Given the description of an element on the screen output the (x, y) to click on. 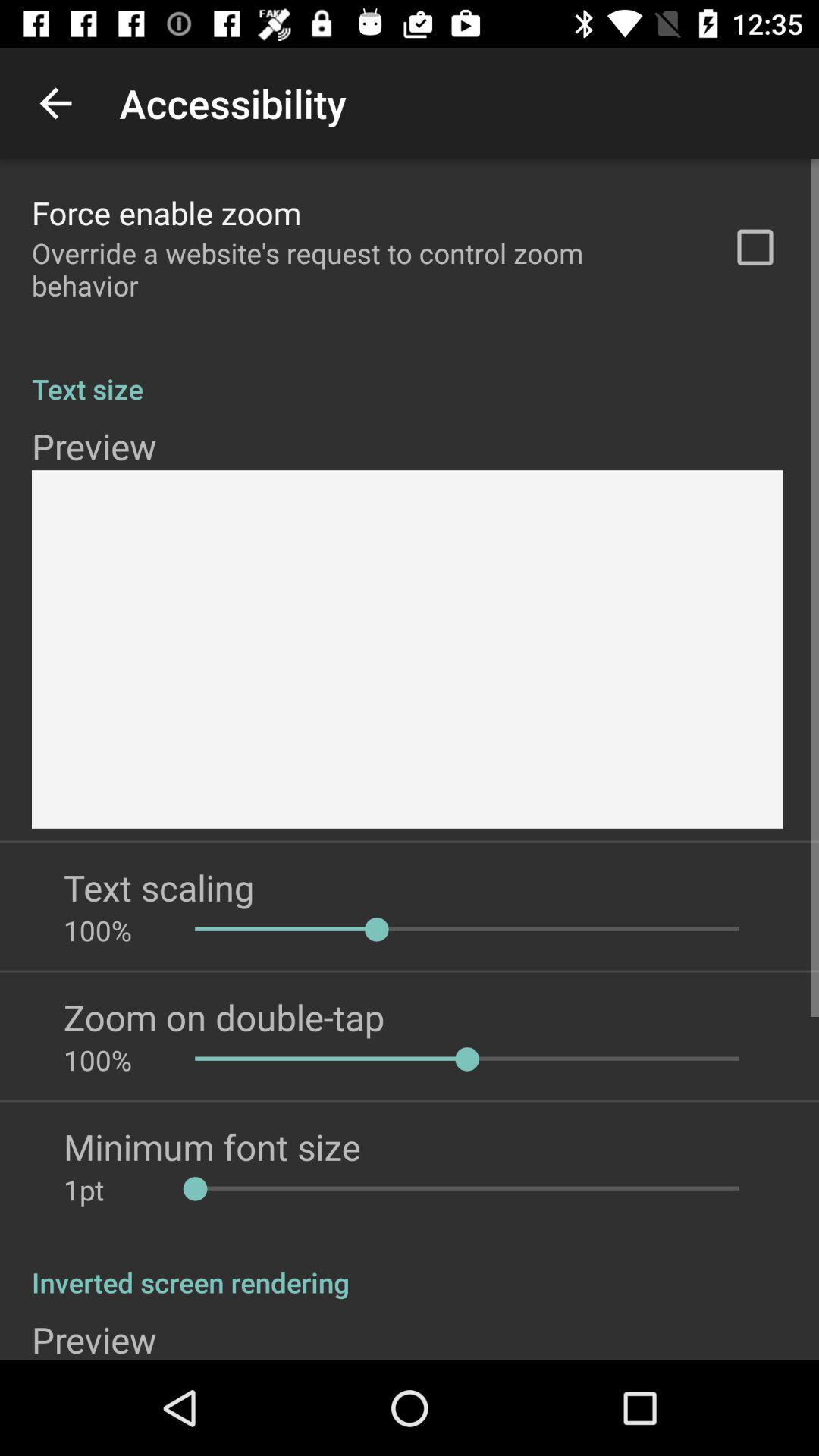
choose text size app (409, 372)
